Given the description of an element on the screen output the (x, y) to click on. 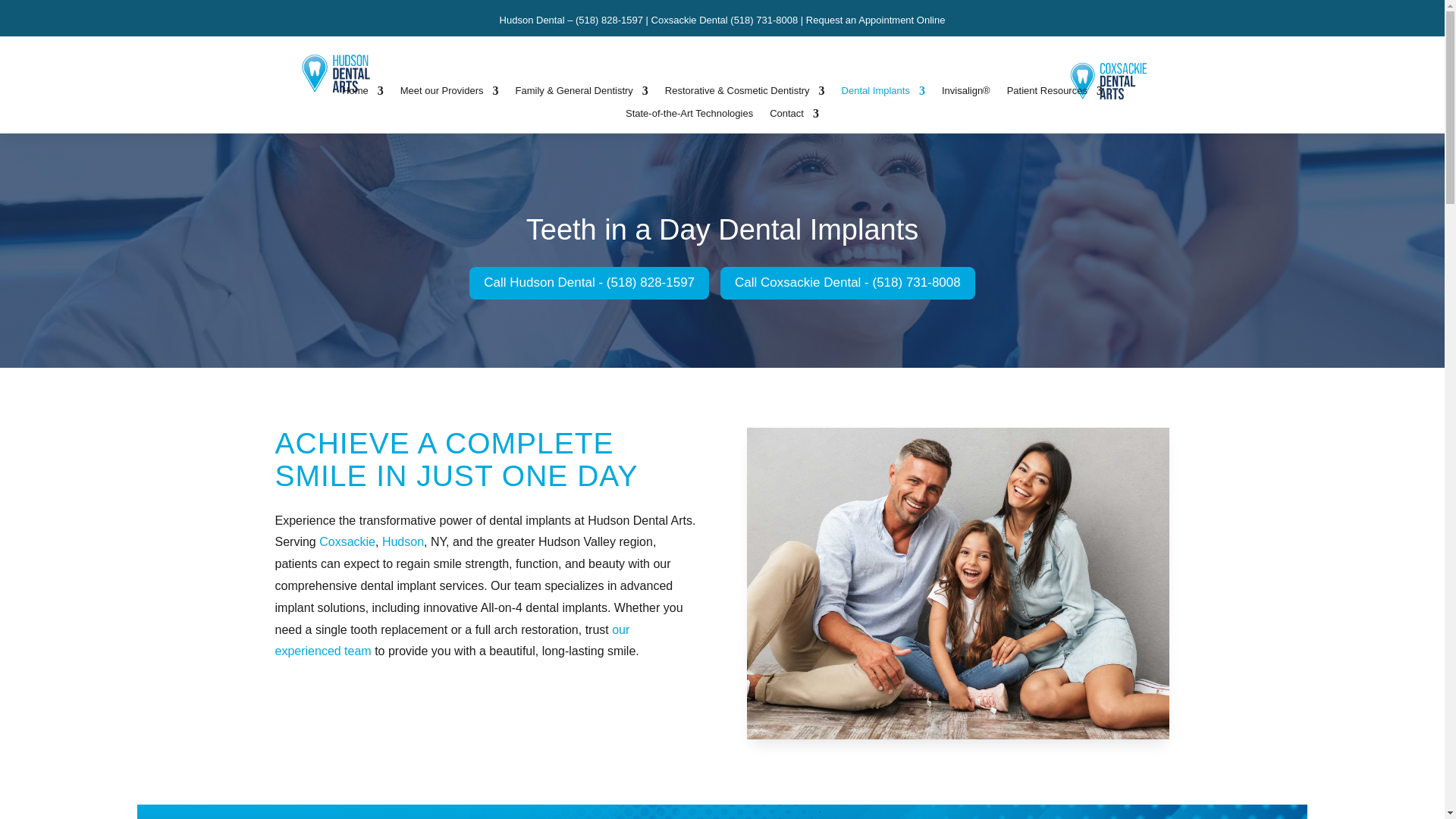
Meet our Providers (449, 93)
215054814 (958, 583)
Contact (794, 116)
Hudson-Full-Color-Logo (335, 73)
Home (363, 93)
Request an Appointment Online (875, 19)
Dental Implants (882, 93)
Patient Resources (1054, 93)
Coxsackie-Full-Color-Logo (1108, 81)
State-of-the-Art Technologies (689, 116)
